Given the description of an element on the screen output the (x, y) to click on. 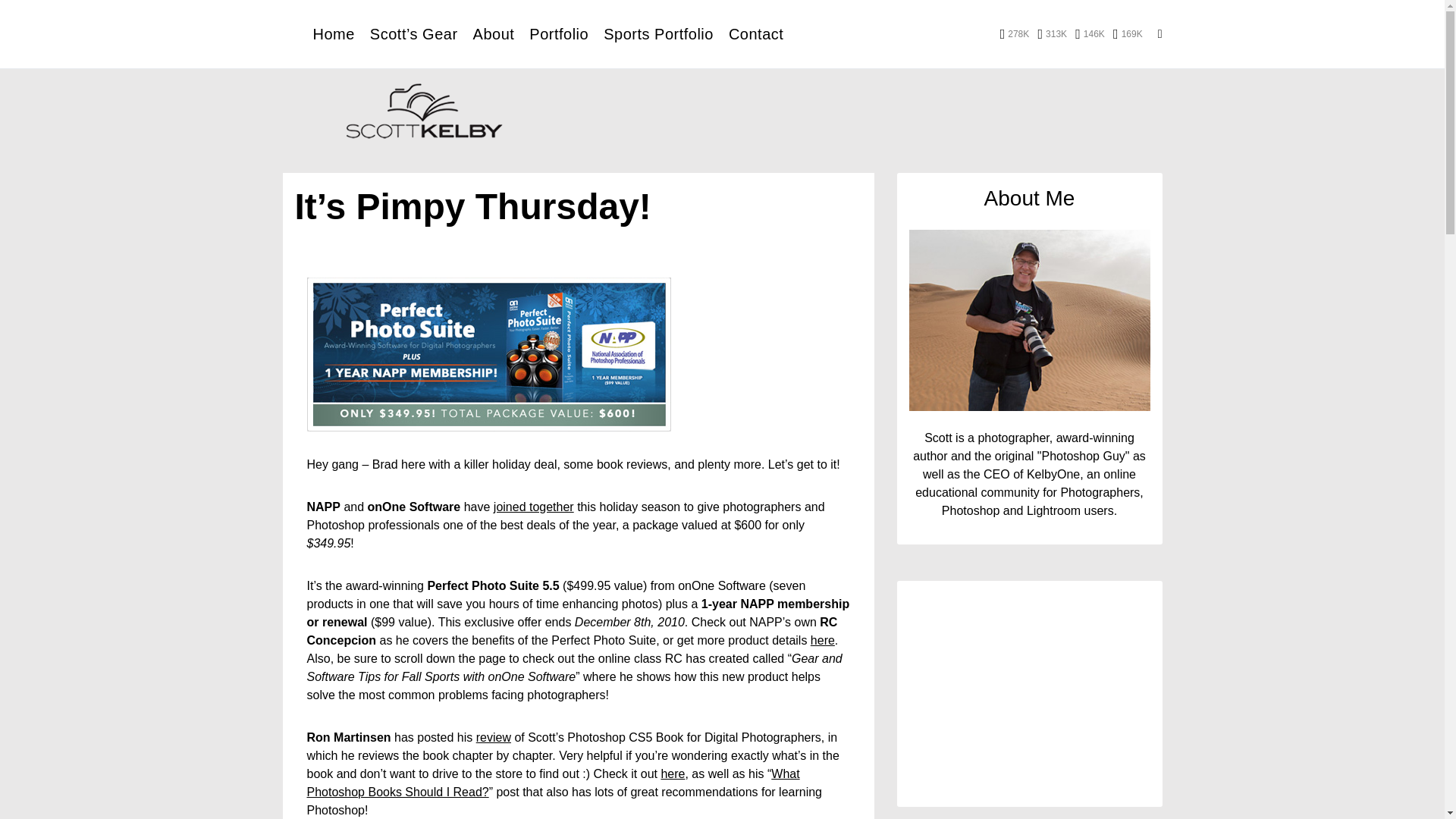
146K (1090, 33)
169K (1127, 33)
313K (1051, 33)
278K (1014, 33)
Sports Portfolio (658, 33)
